Given the description of an element on the screen output the (x, y) to click on. 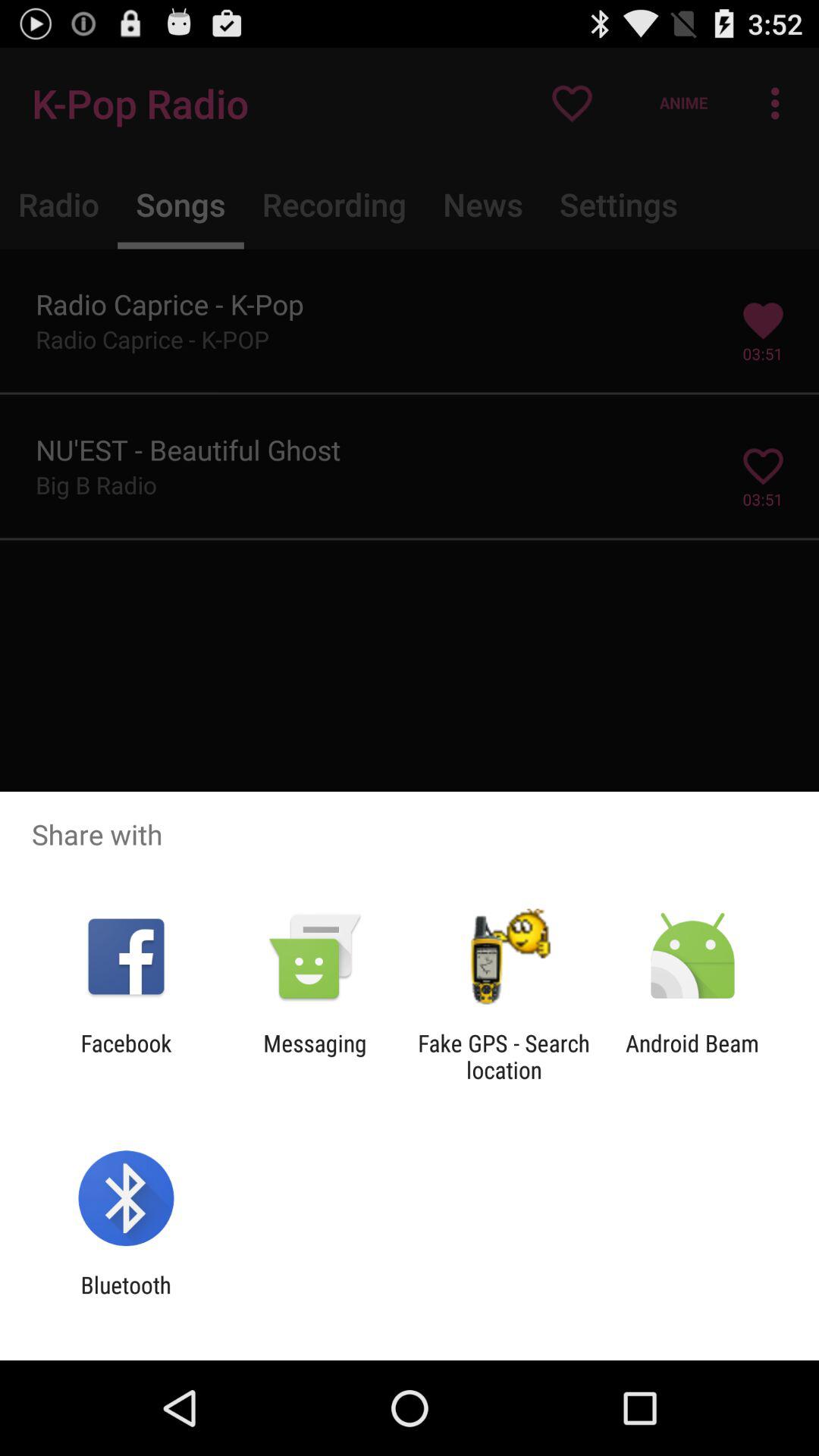
flip until the bluetooth (125, 1298)
